Given the description of an element on the screen output the (x, y) to click on. 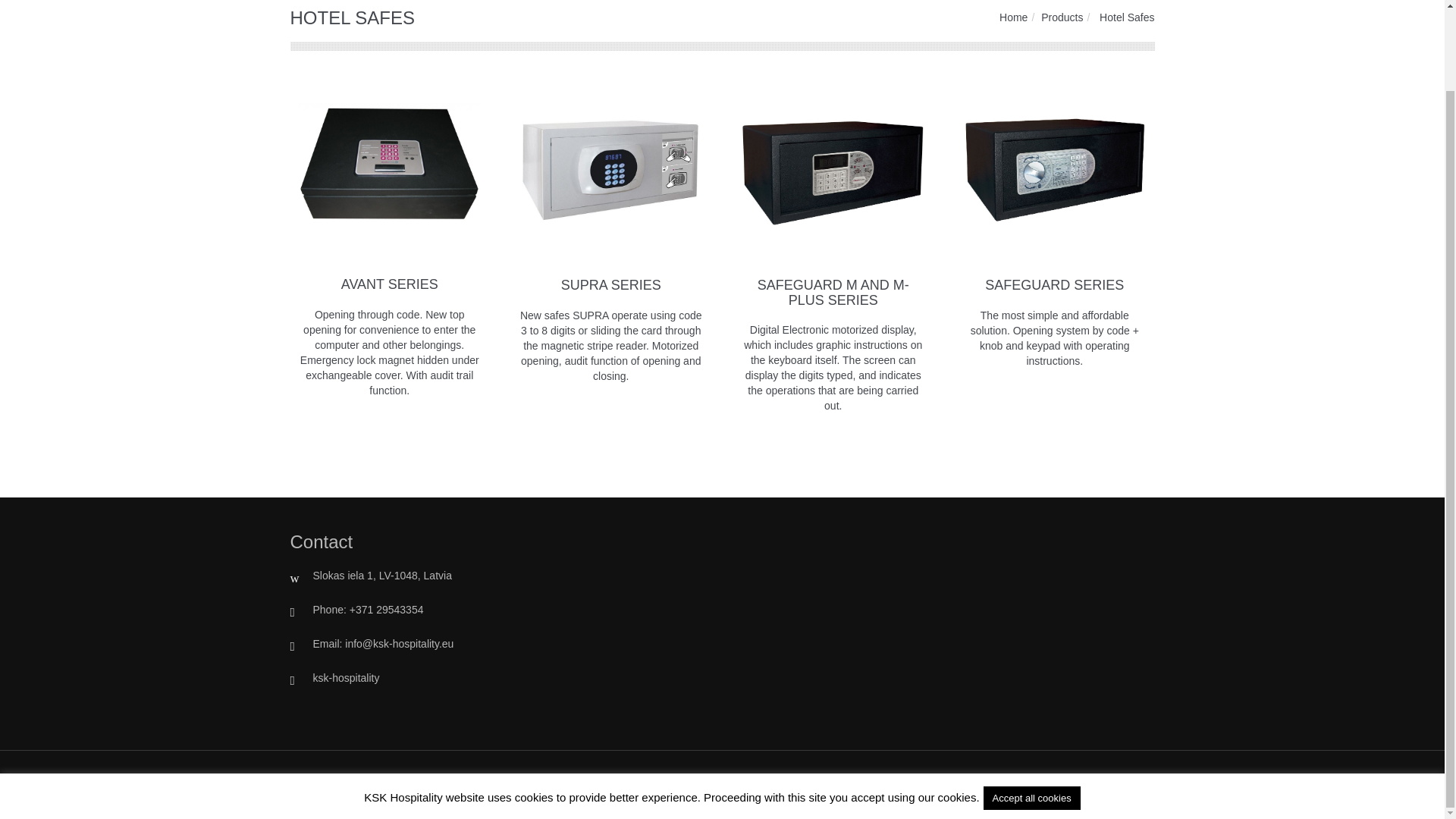
Home (1012, 17)
Supra series (610, 171)
Accept all cookies (1032, 707)
SAFEGUARD SERIES (1054, 284)
Products (1062, 17)
Safeguard M and M-Plus series (833, 171)
AVANT SERIES (389, 283)
ksk-hospitality (345, 677)
Avant series (389, 171)
Products (1062, 17)
SAFEGUARD M AND M-PLUS SERIES (832, 292)
Safeguard series (1054, 171)
SUPRA SERIES (610, 284)
